Given the description of an element on the screen output the (x, y) to click on. 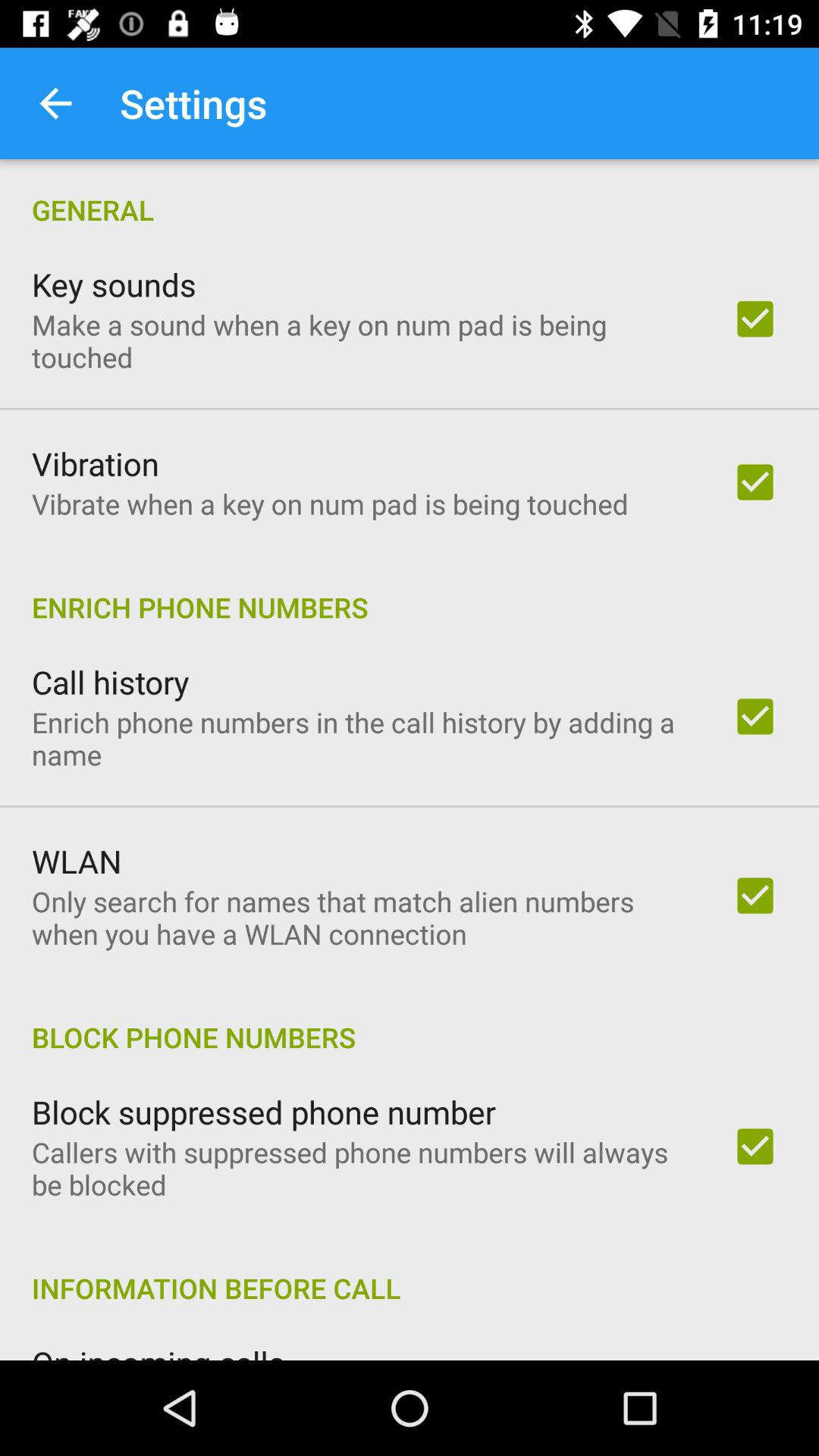
open the on incoming calls (157, 1350)
